Given the description of an element on the screen output the (x, y) to click on. 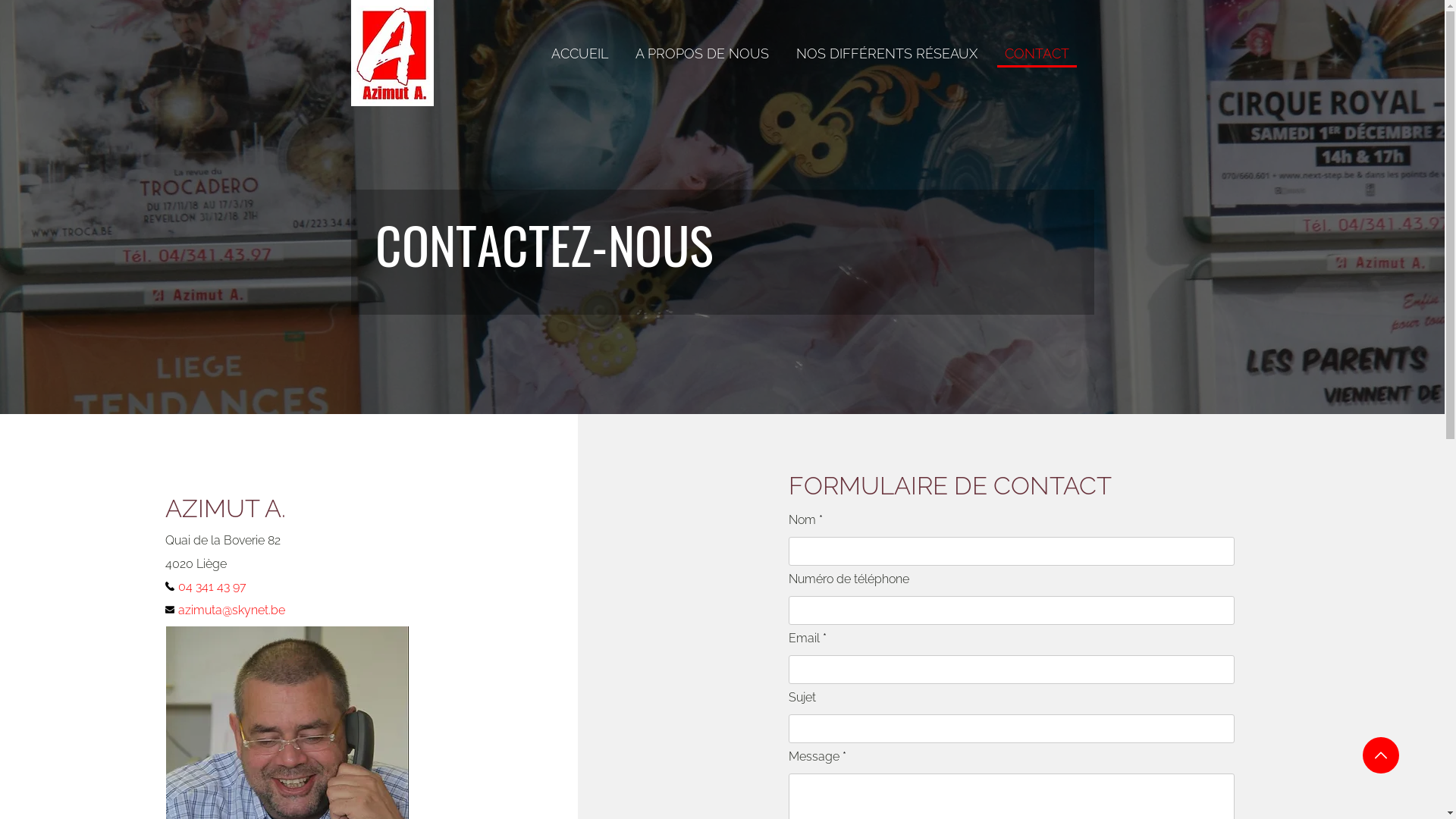
A PROPOS DE NOUS Element type: text (701, 54)
CONTACT Element type: text (1036, 54)
azimuta@skynet.be Element type: text (239, 610)
04 341 43 97 Element type: text (221, 585)
ACCUEIL Element type: text (578, 54)
